Given the description of an element on the screen output the (x, y) to click on. 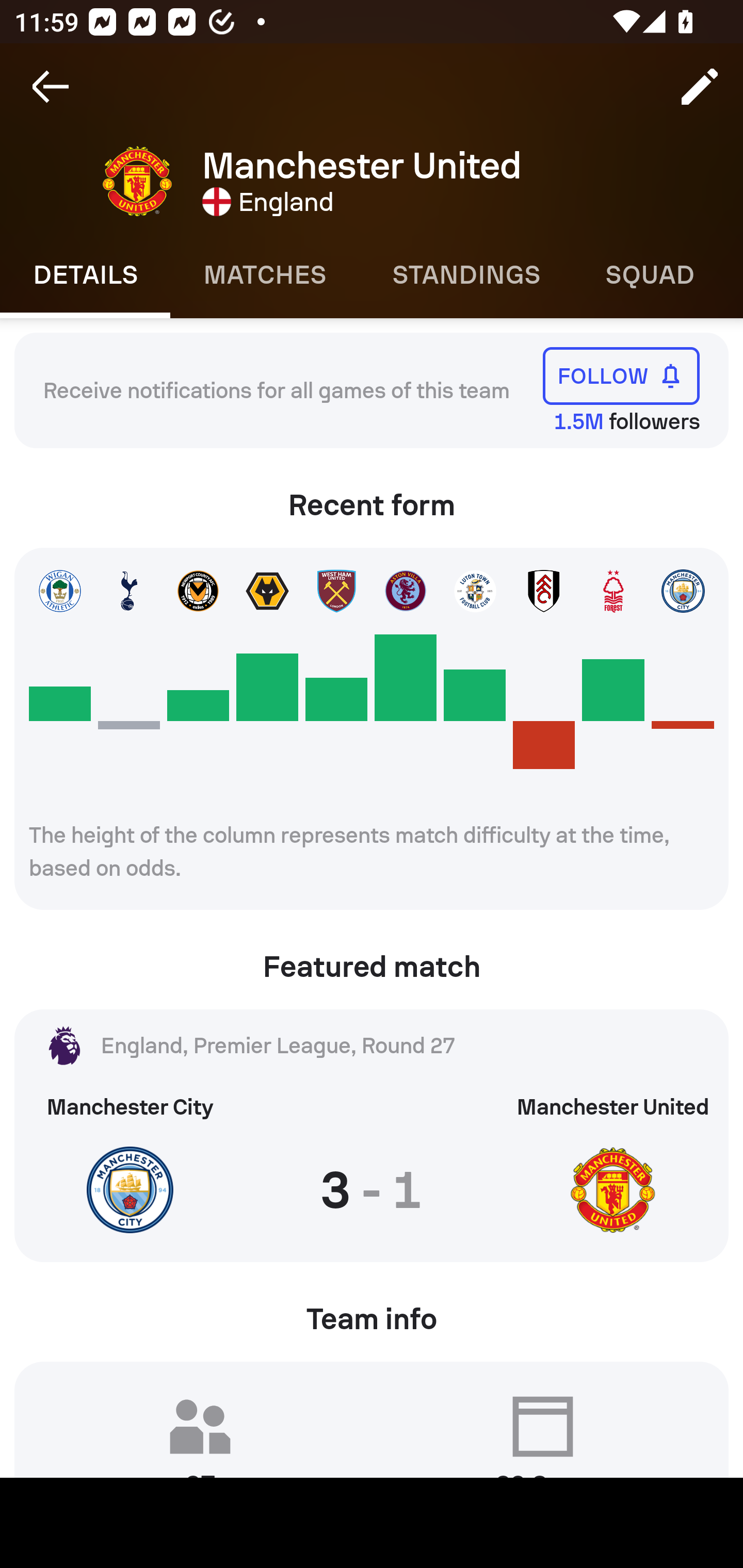
Navigate up (50, 86)
Edit (699, 86)
Matches MATCHES (264, 275)
Standings STANDINGS (465, 275)
Squad SQUAD (650, 275)
FOLLOW (621, 375)
